Given the description of an element on the screen output the (x, y) to click on. 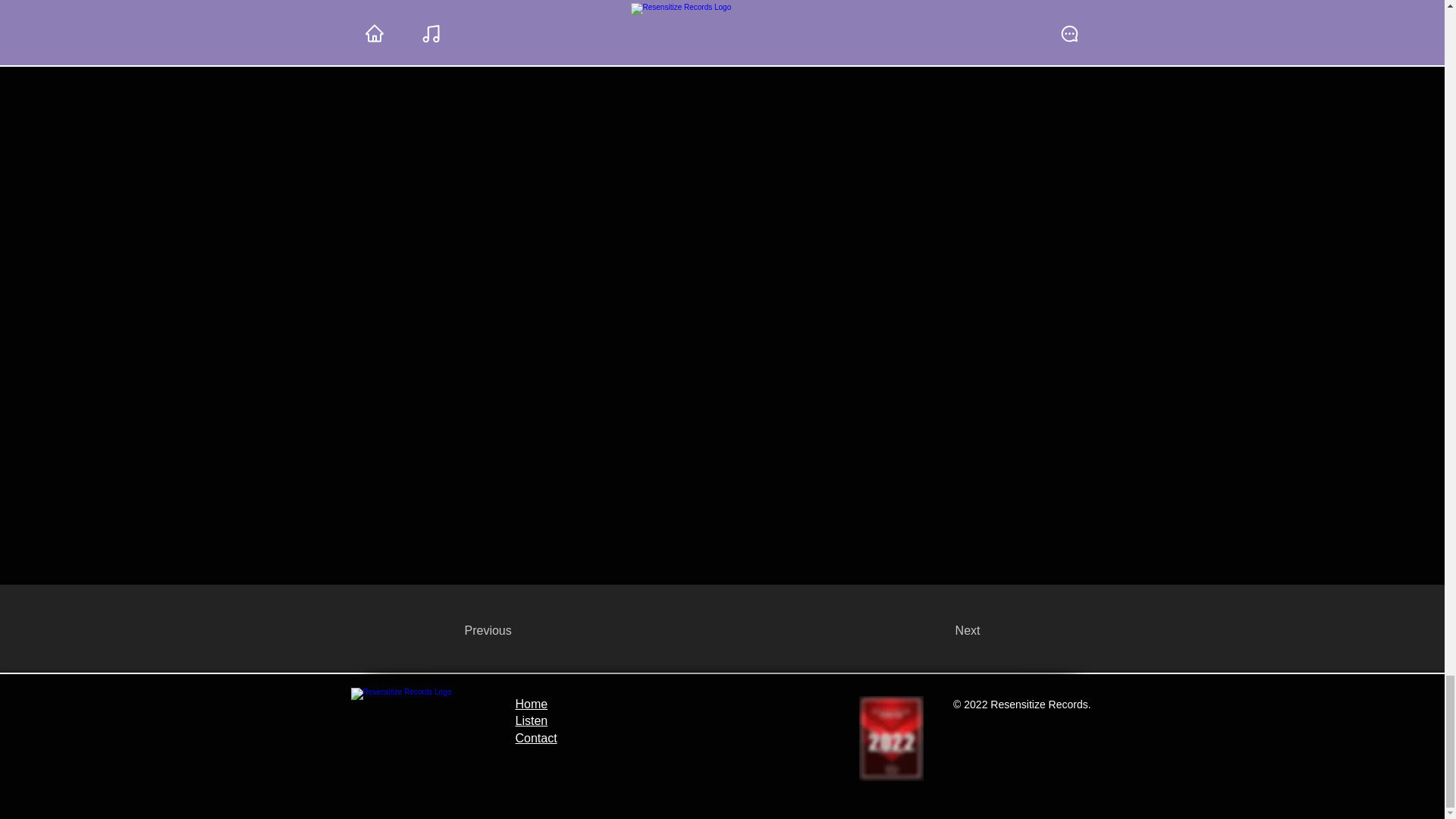
Contact (536, 738)
Home (531, 703)
Previous (514, 630)
Listen (531, 720)
Next (941, 630)
Resensitize Records - Go Hoe (418, 730)
